Given the description of an element on the screen output the (x, y) to click on. 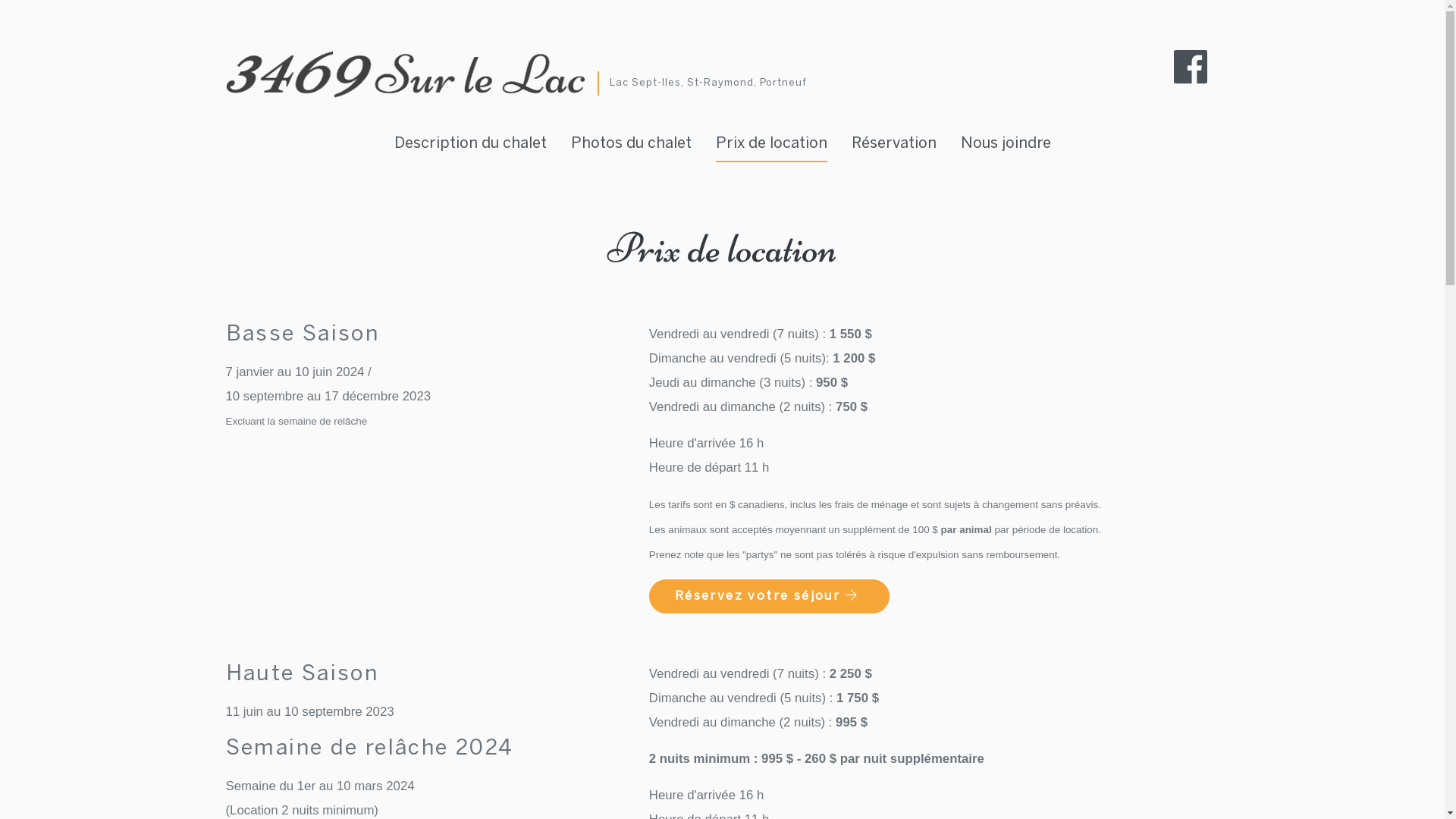
Aller au menu principal Element type: text (21, 21)
Description du chalet Element type: text (470, 143)
Photos du chalet Element type: text (630, 143)
Nous joindre Element type: text (1004, 143)
Prix de location Element type: text (771, 143)
